Given the description of an element on the screen output the (x, y) to click on. 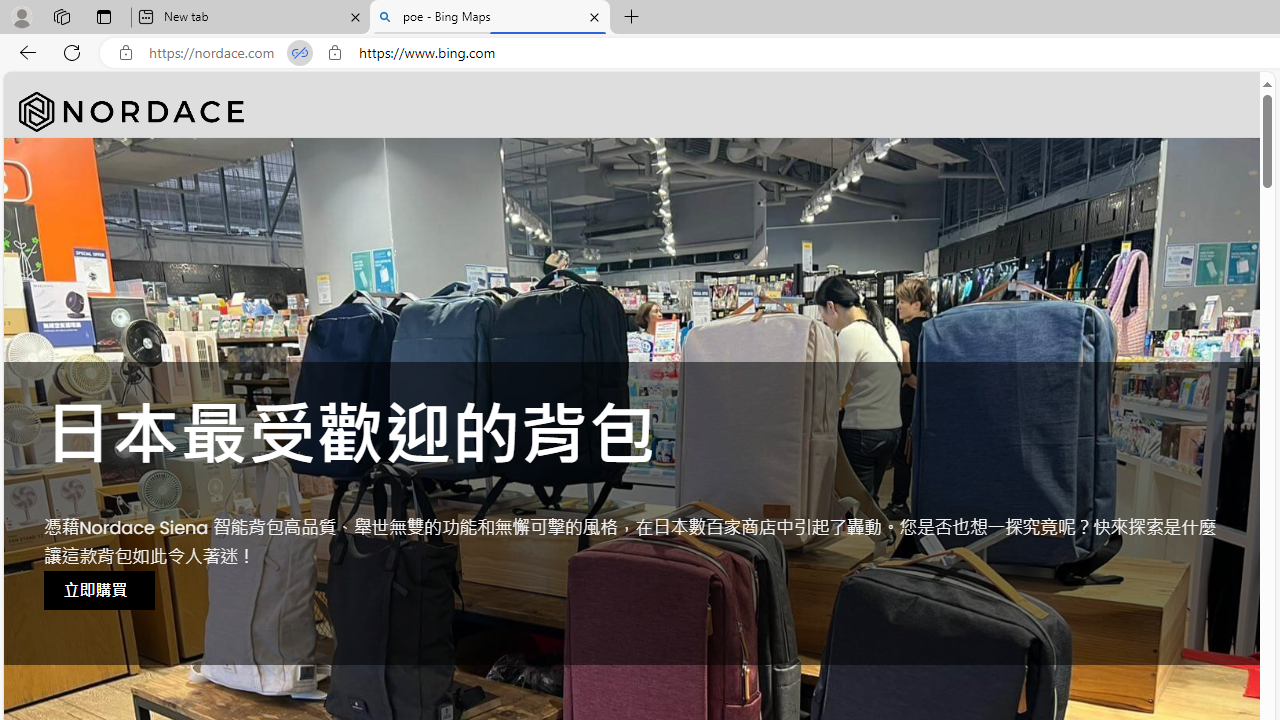
Tabs in split screen (299, 53)
poe - Bing Maps (490, 17)
